Given the description of an element on the screen output the (x, y) to click on. 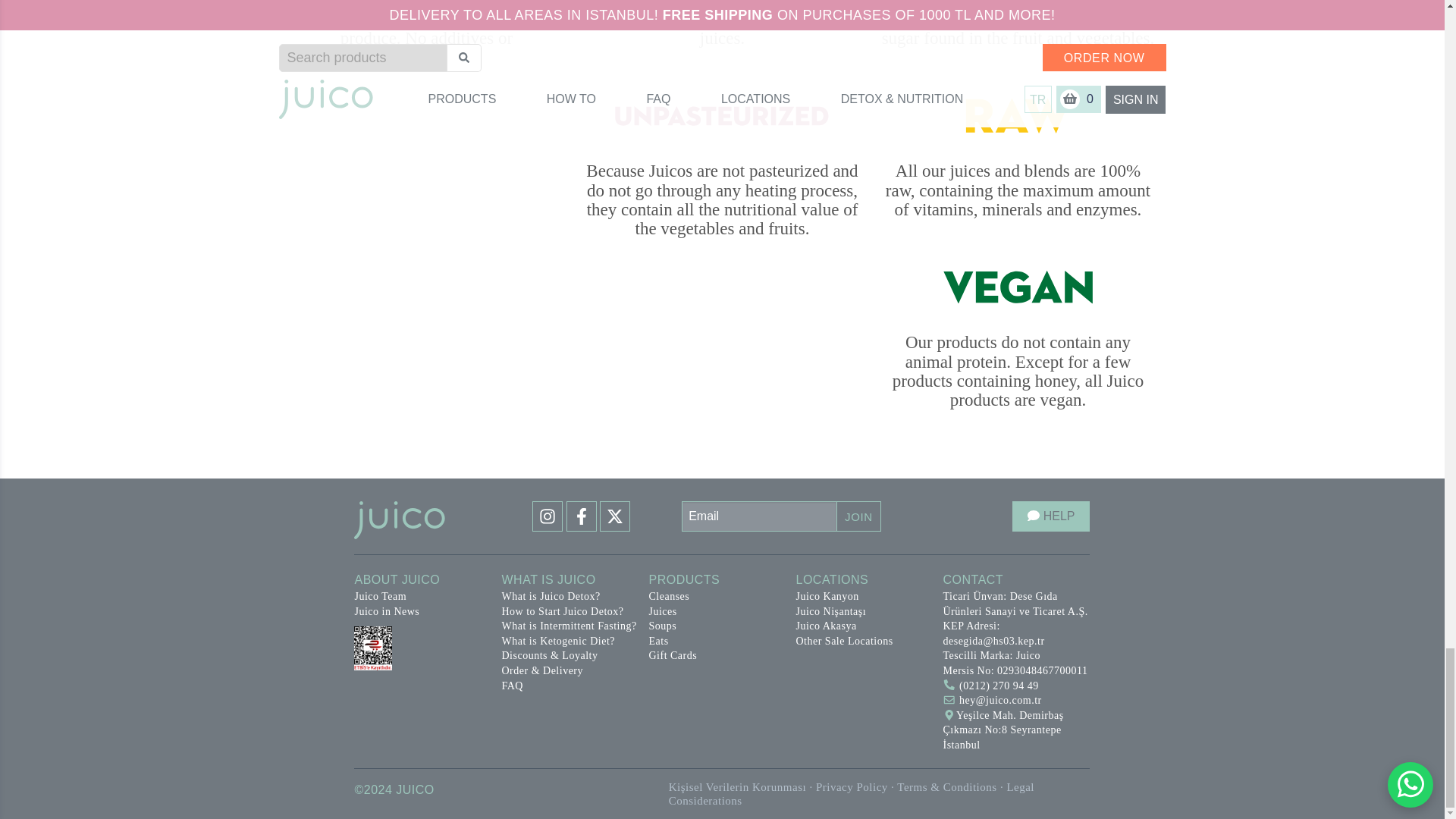
Juico Facebook (582, 524)
Juico Instagram (549, 524)
Juico Twitter (614, 524)
